Given the description of an element on the screen output the (x, y) to click on. 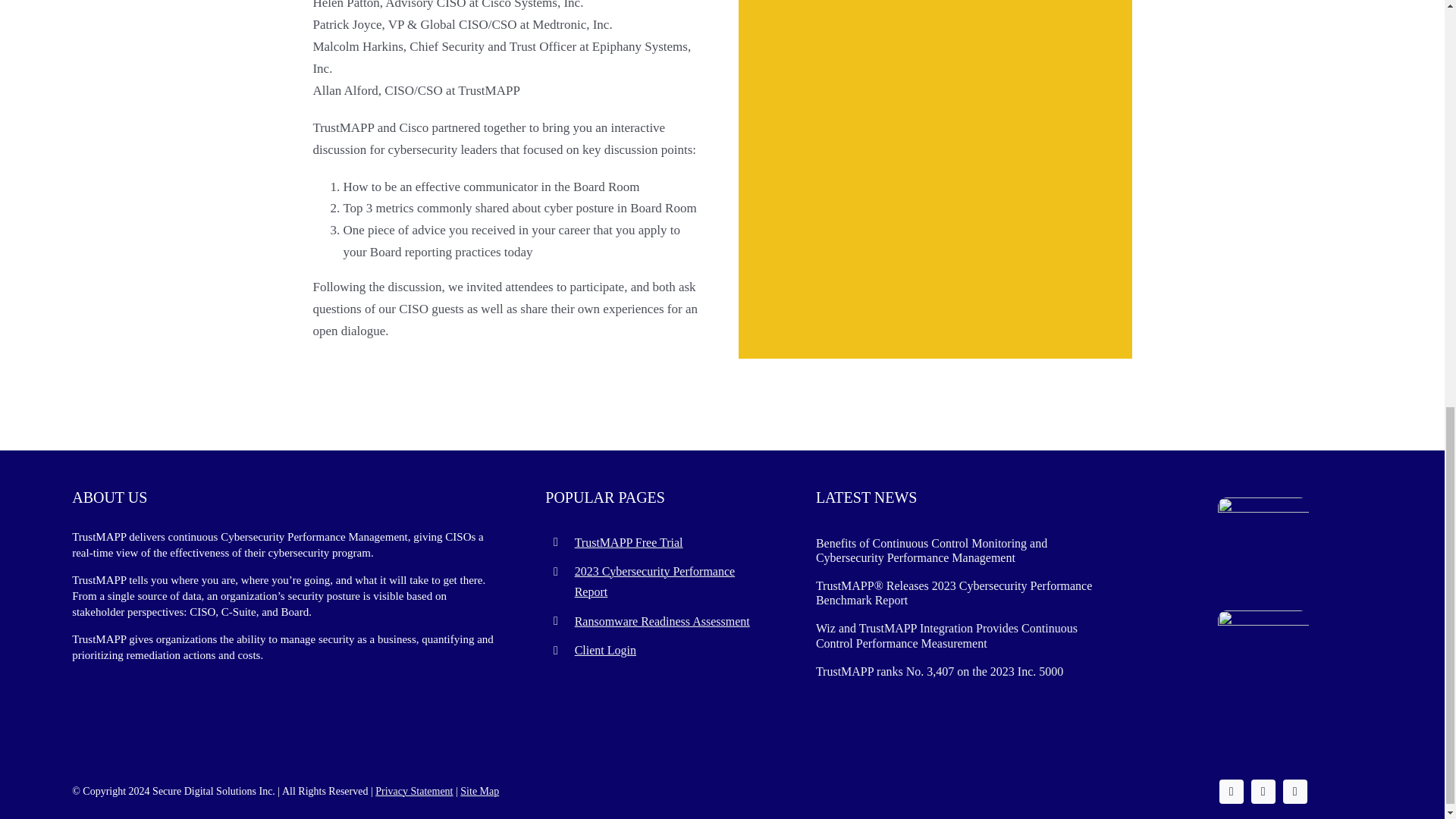
X (1231, 791)
YouTube (1294, 791)
LinkedIn (1262, 791)
